Given the description of an element on the screen output the (x, y) to click on. 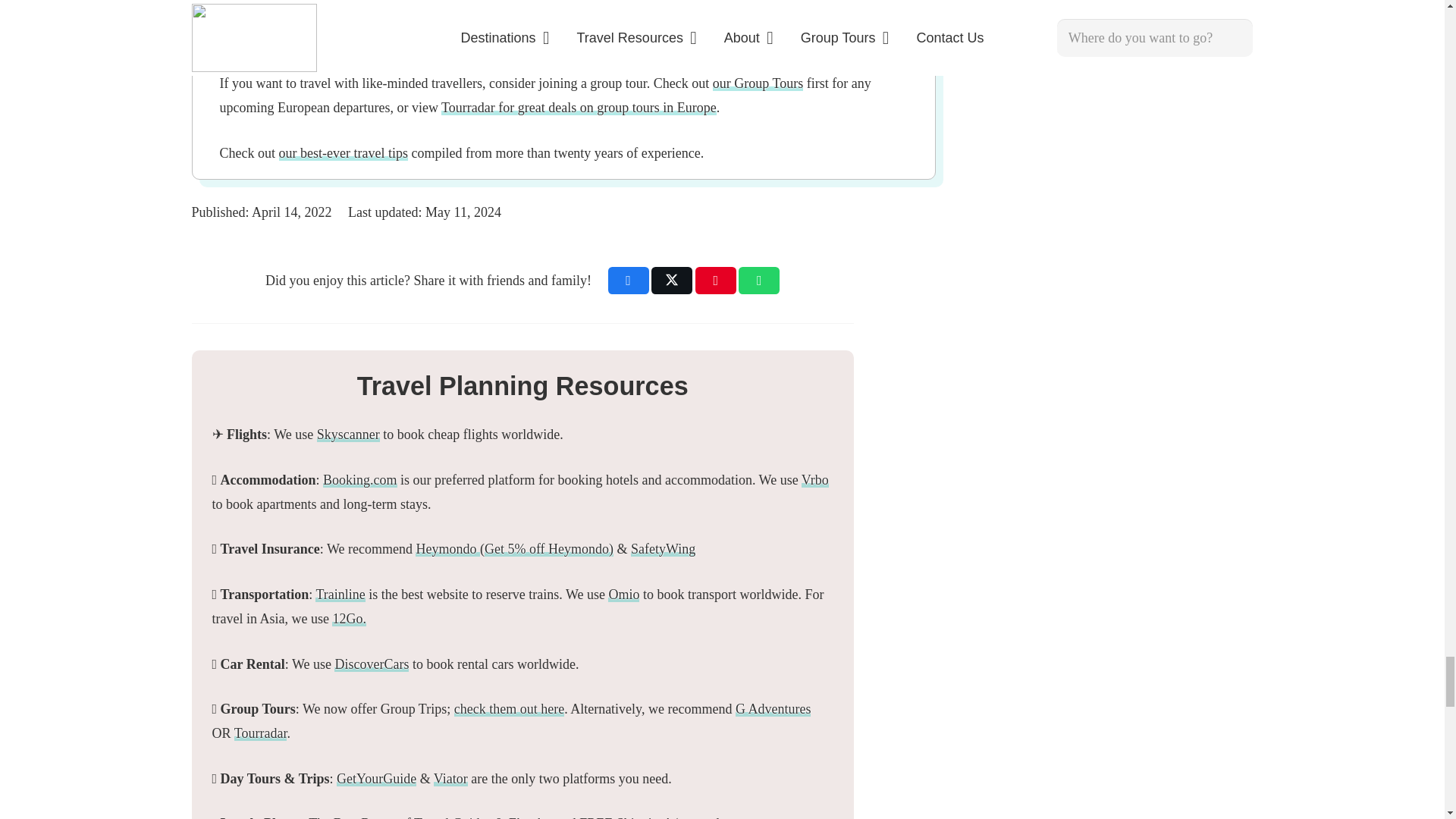
Pin this (715, 280)
Share this (628, 280)
Tweet this (671, 280)
